Given the description of an element on the screen output the (x, y) to click on. 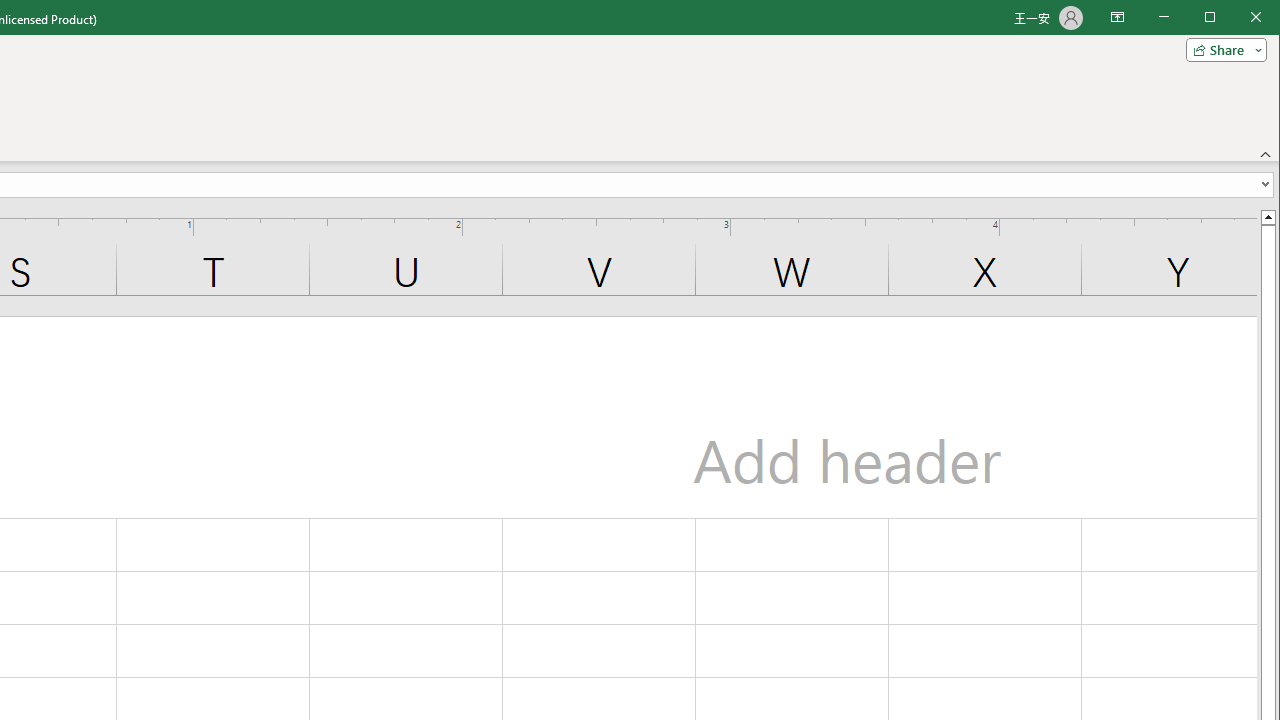
Maximize (1238, 18)
